Given the description of an element on the screen output the (x, y) to click on. 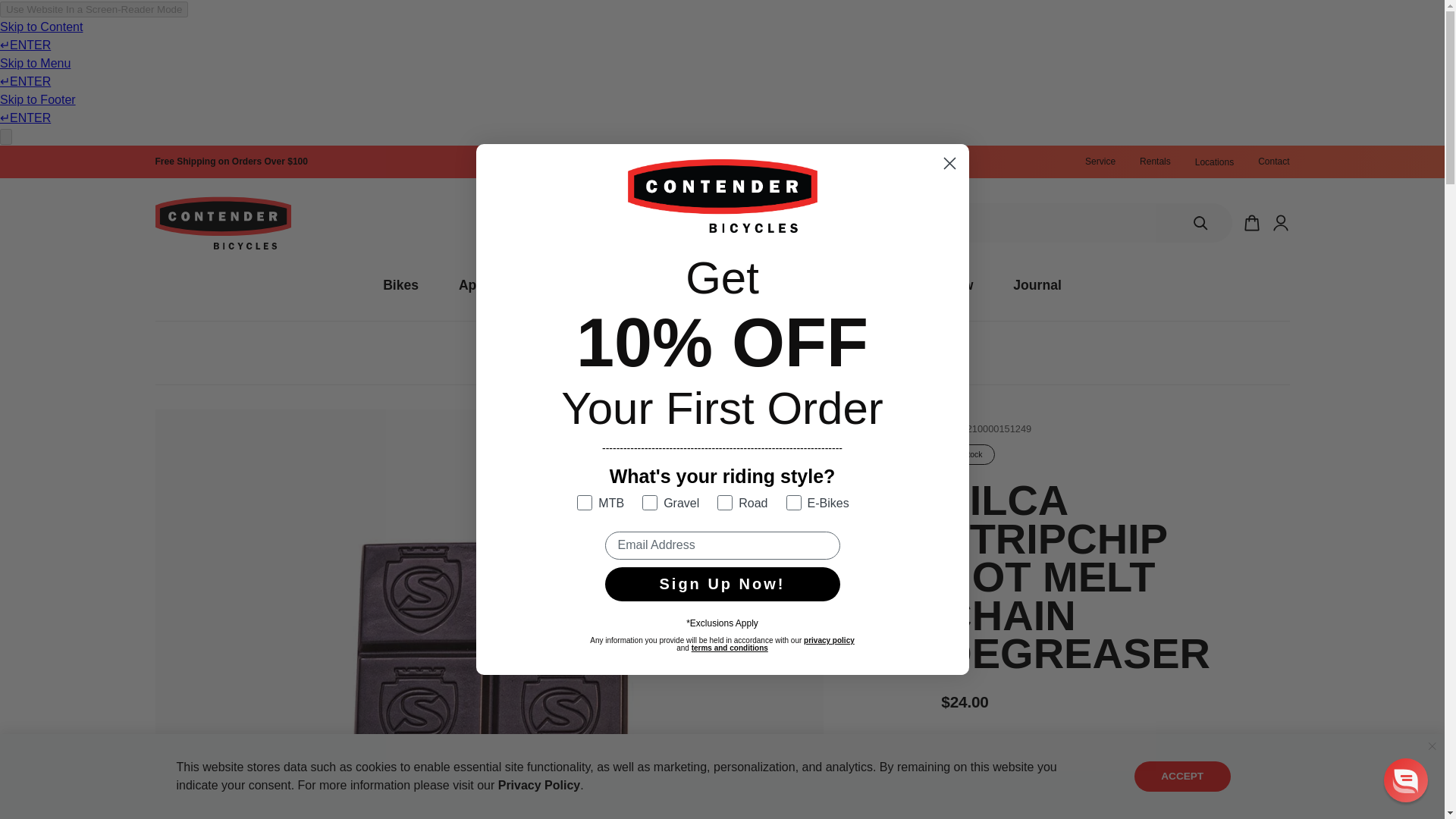
Close dialog 2 (949, 162)
Home (581, 352)
Service (1099, 161)
Locations (1214, 161)
SHIPPING (230, 161)
Bikes (400, 284)
PRIVACY POLICY (538, 784)
Shop (625, 352)
Contact (1272, 161)
SEARCH (1200, 222)
SKIP TO CONTENT (31, 163)
Rentals (1155, 161)
